Given the description of an element on the screen output the (x, y) to click on. 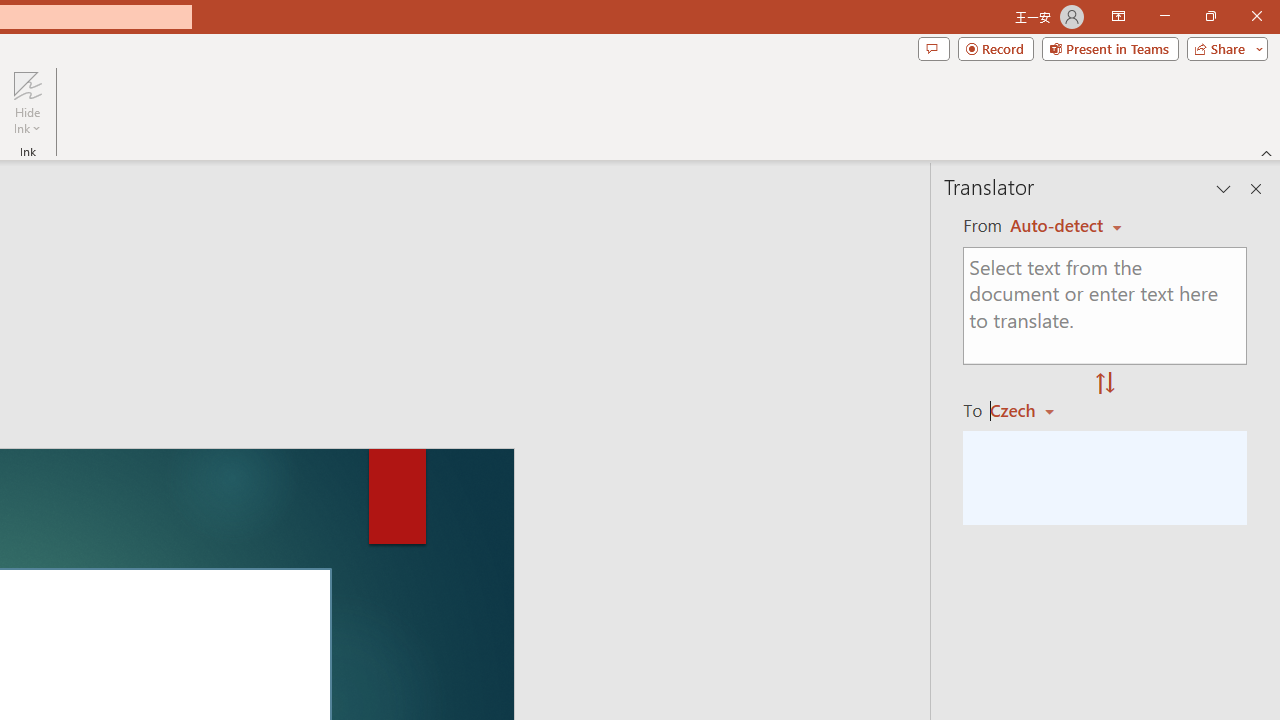
English (1066, 225)
